Given the description of an element on the screen output the (x, y) to click on. 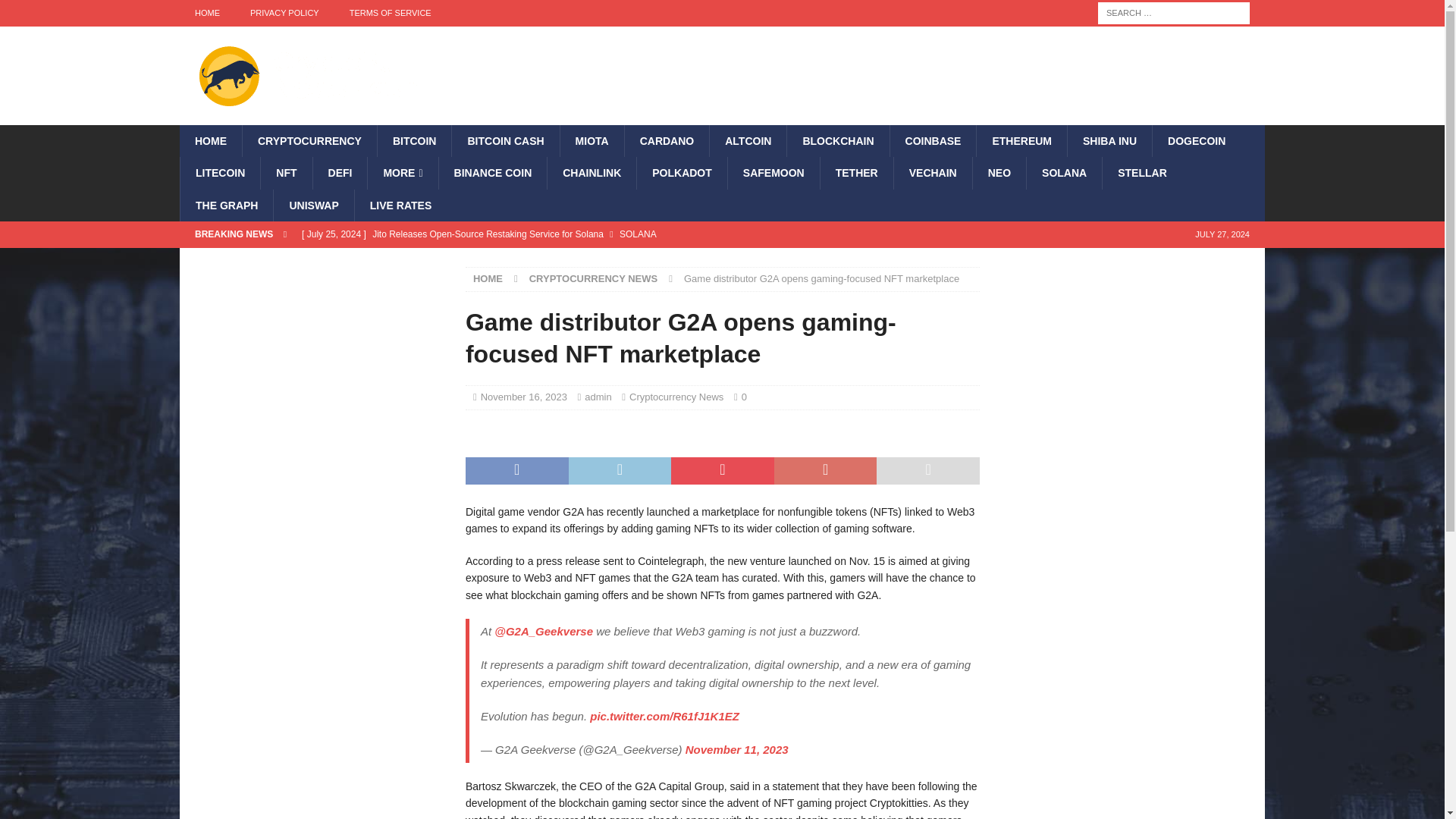
PRIVACY POLICY (284, 13)
TERMS OF SERVICE (390, 13)
Jito Releases Open-Source Restaking Service for Solana (590, 234)
HOME (206, 13)
Search (56, 11)
